Given the description of an element on the screen output the (x, y) to click on. 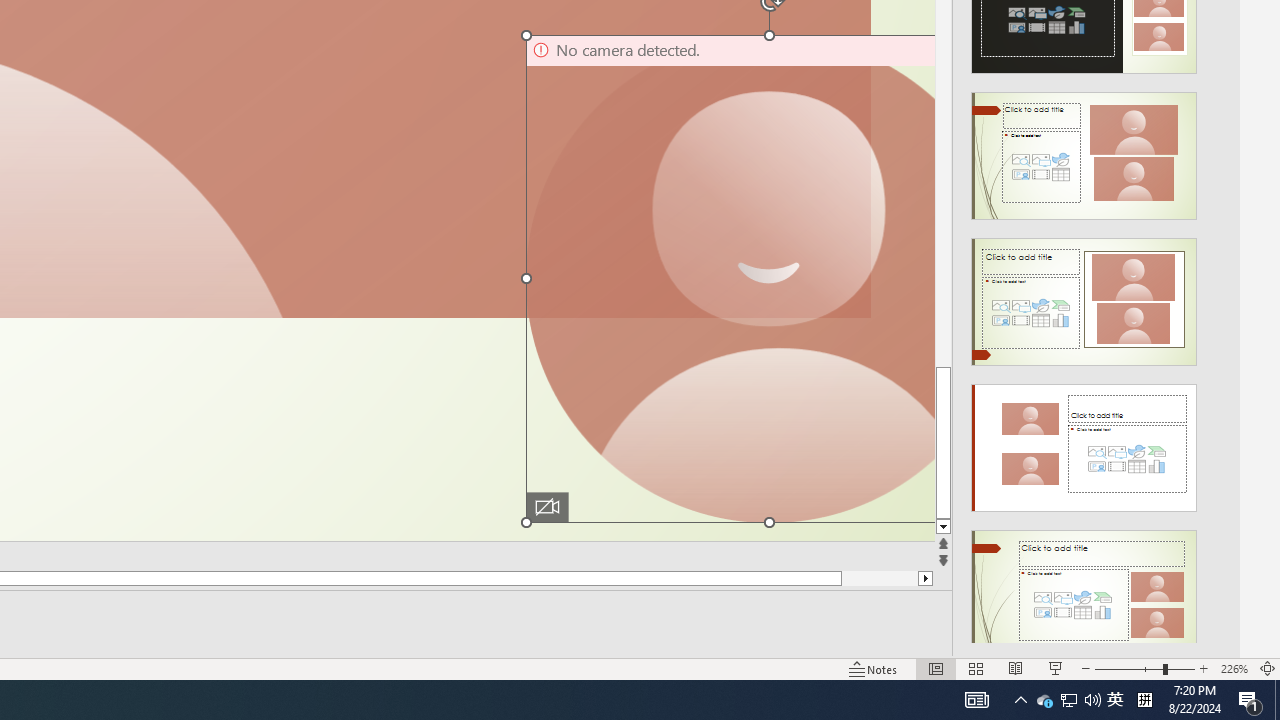
Camera 4, No camera detected. (728, 278)
Zoom 226% (1234, 668)
